Given the description of an element on the screen output the (x, y) to click on. 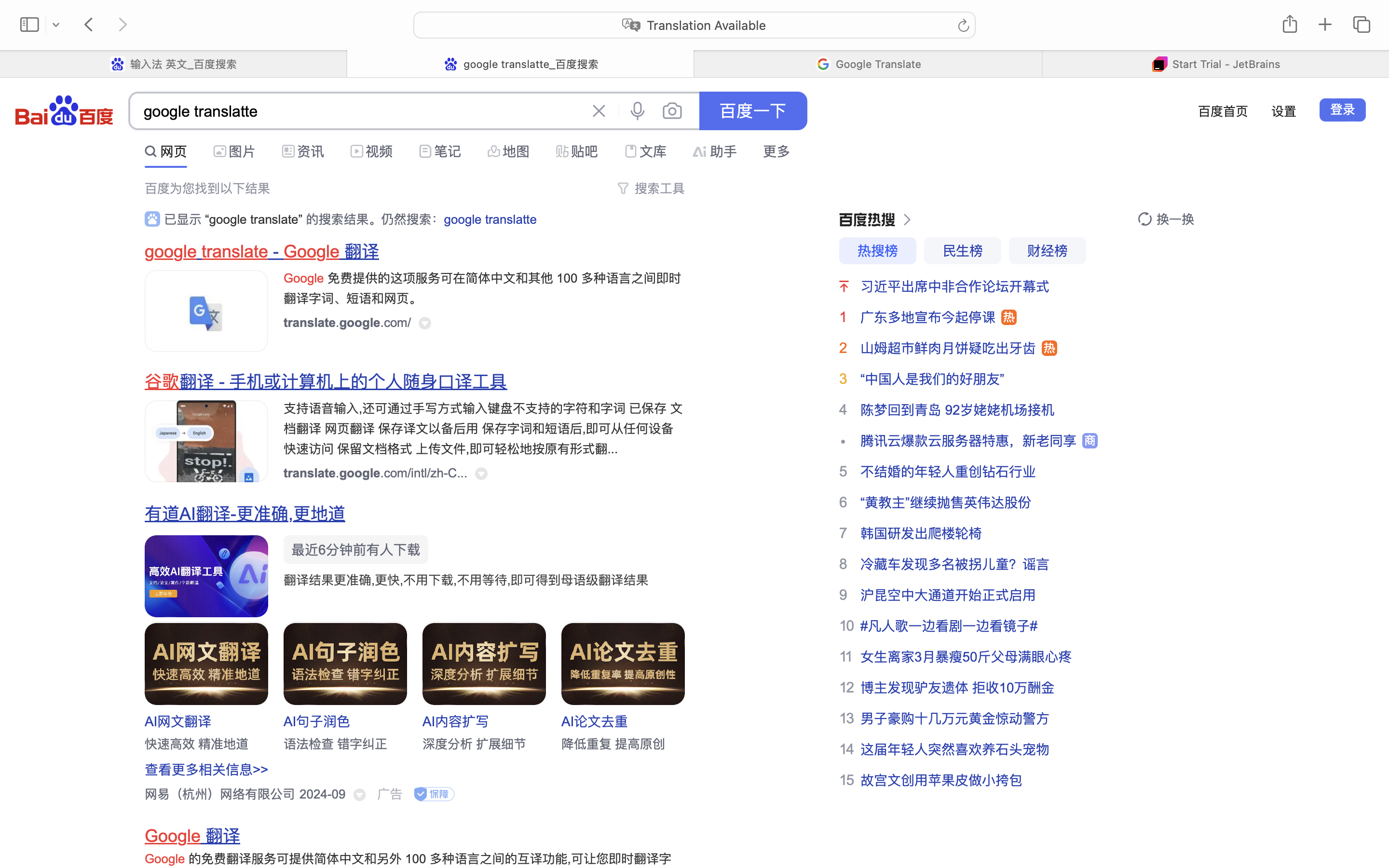
贴吧 Element type: AXStaticText (584, 151)
12 Element type: AXStaticText (846, 686)
14 Element type: AXStaticText (846, 748)
google translatte Element type: AXStaticText (490, 219)
不结婚的年轻人重创钻石行业 Element type: AXStaticText (947, 471)
